Given the description of an element on the screen output the (x, y) to click on. 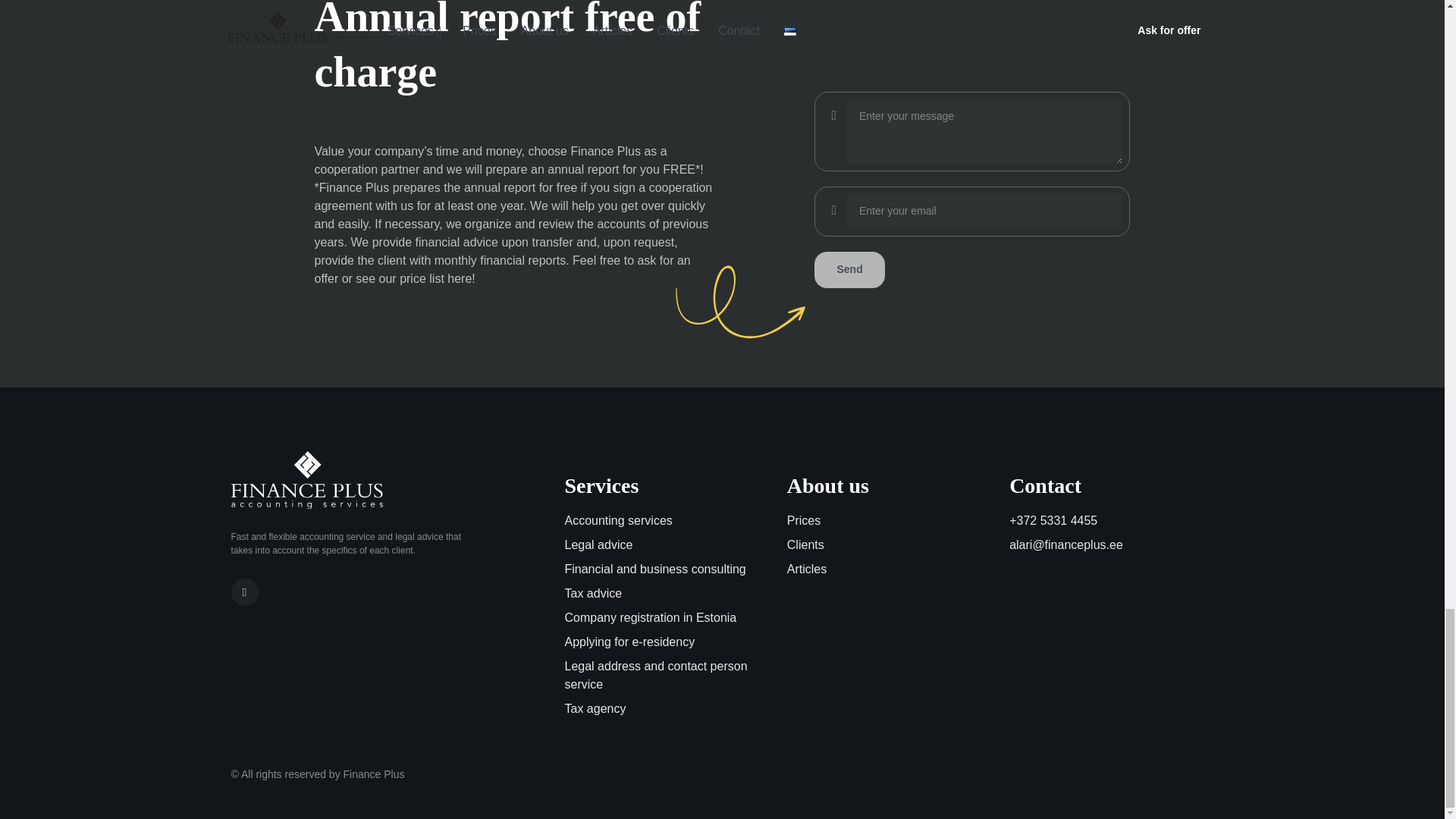
Send (848, 269)
Company registration in Estonia (666, 618)
Legal advice (666, 545)
Accounting services (666, 520)
Finance Plus (305, 479)
Tax advice (666, 593)
Send (848, 269)
Facebook (243, 592)
Financial and business consulting (666, 569)
